Given the description of an element on the screen output the (x, y) to click on. 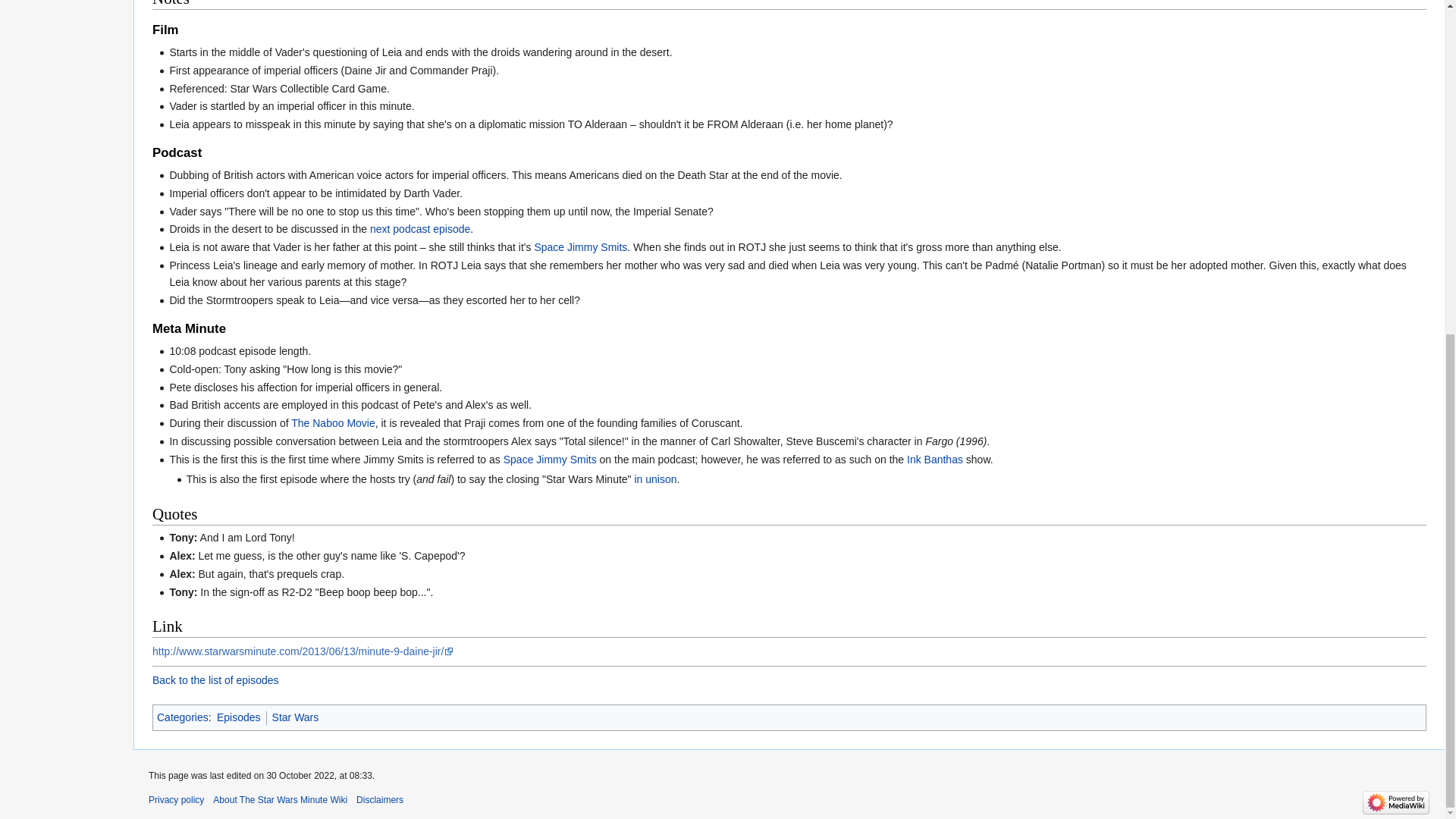
Ink Banthas (934, 459)
List of Star Wars Minute Episodes (215, 680)
SWM Characters (580, 246)
Categories (182, 717)
Inside References and Running Jokes (333, 422)
Special:Categories (182, 717)
in unison (655, 479)
next podcast episode (419, 228)
Ink Banthas (934, 459)
Space Jimmy Smits (580, 246)
